Given the description of an element on the screen output the (x, y) to click on. 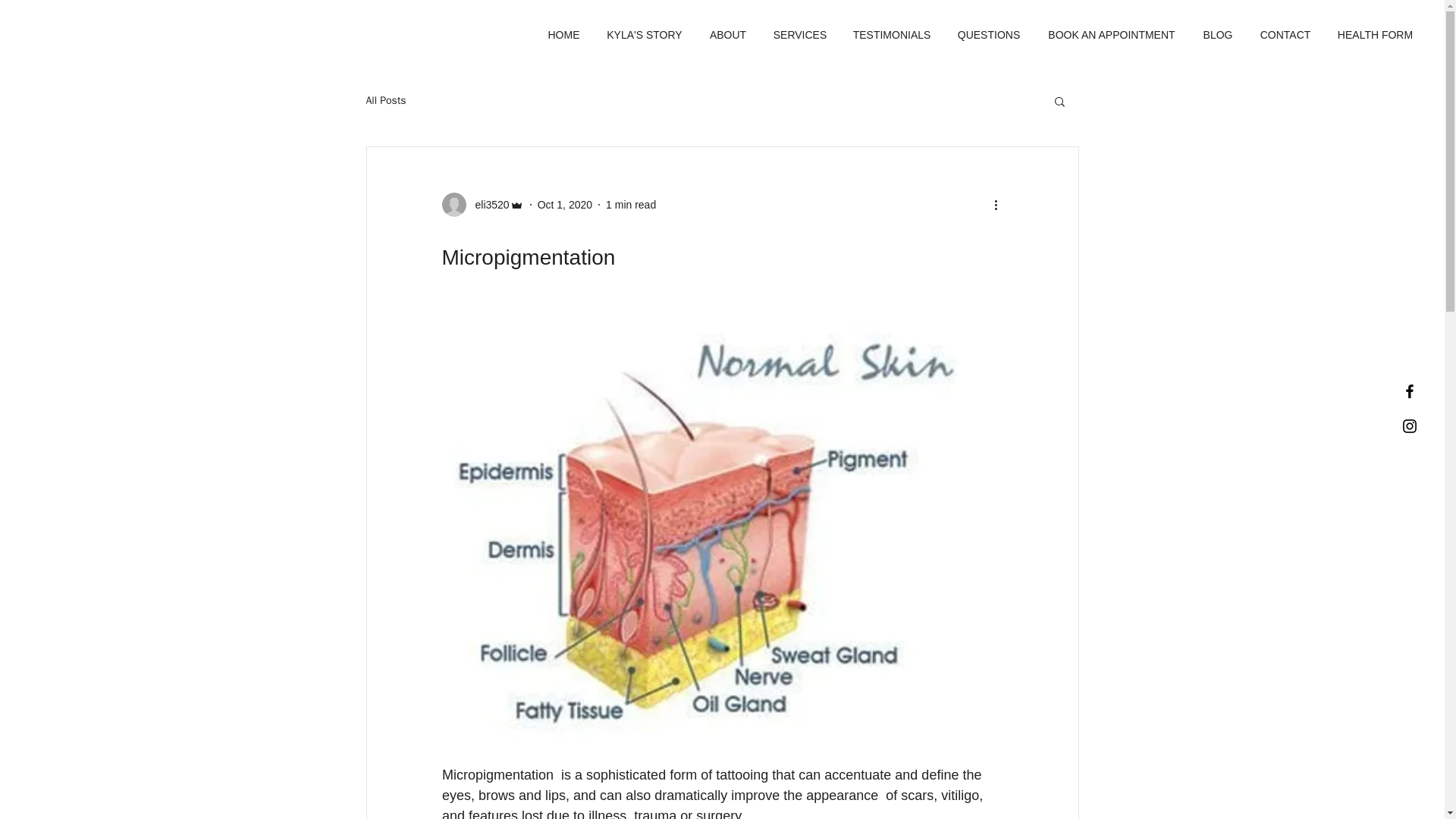
1 min read (630, 204)
TESTIMONIALS (891, 34)
eli3520 (481, 204)
BOOK AN APPOINTMENT (1111, 34)
BLOG (1217, 34)
HOME (564, 34)
KYLA'S STORY (644, 34)
All Posts (385, 100)
QUESTIONS (988, 34)
CONTACT (1285, 34)
HEALTH FORM (1374, 34)
Oct 1, 2020 (564, 204)
ABOUT (727, 34)
eli3520 (486, 204)
